Given the description of an element on the screen output the (x, y) to click on. 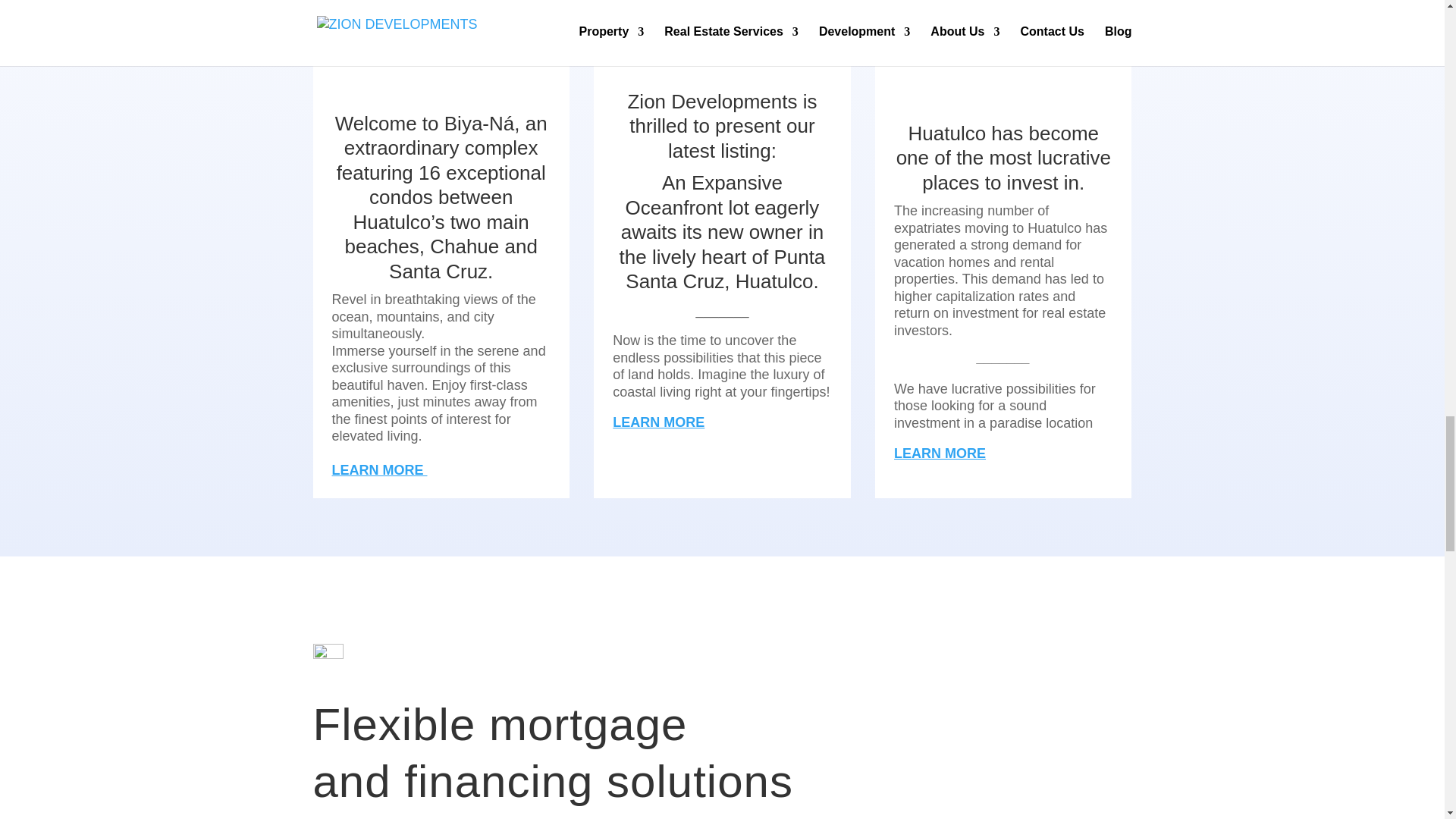
LEARN MORE  (379, 462)
